Given the description of an element on the screen output the (x, y) to click on. 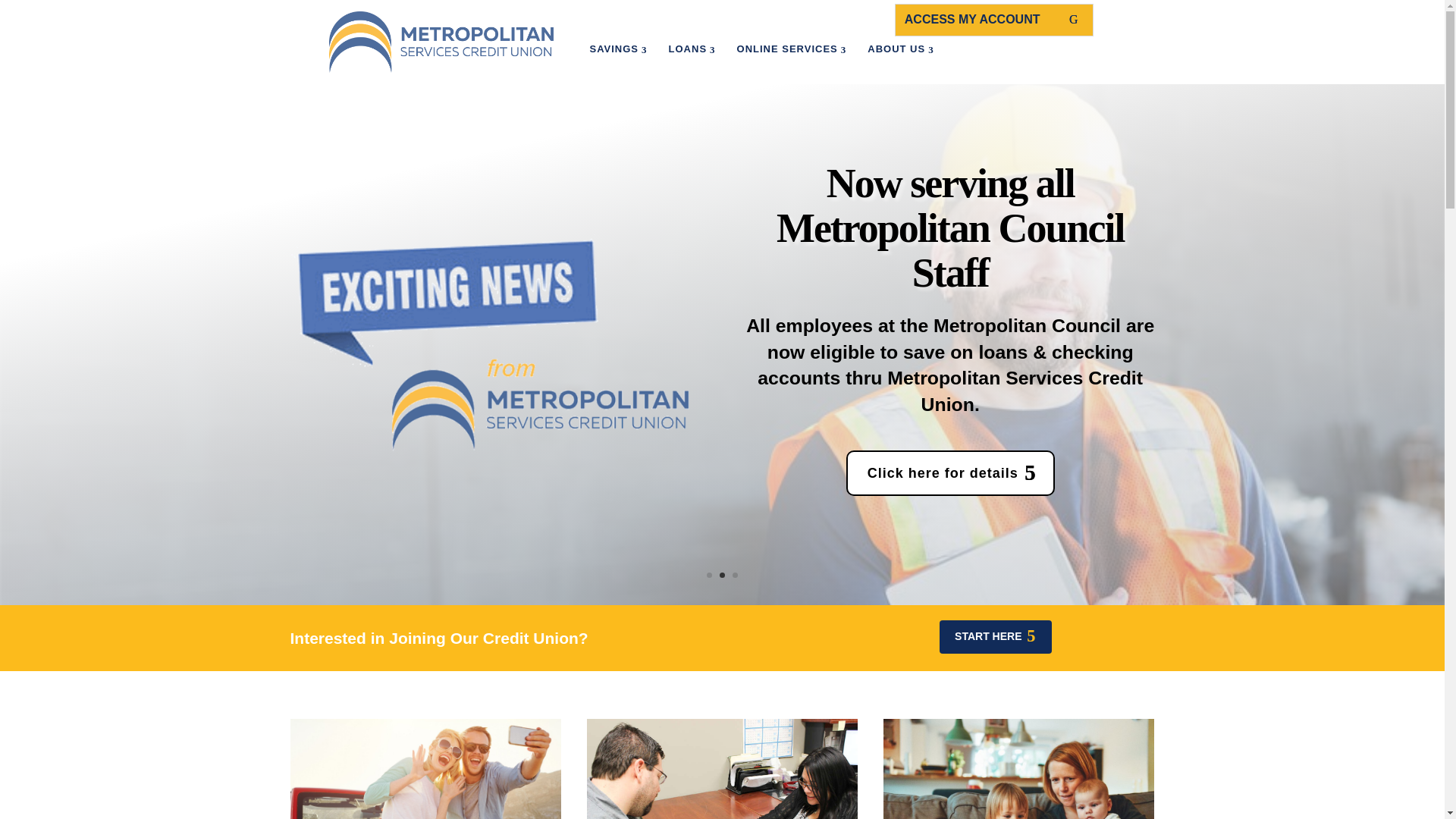
SAVINGS (617, 48)
ABOUT US (899, 48)
ONLINE SERVICES (791, 48)
LOANS (691, 48)
mscu-logo-new (441, 41)
